Given the description of an element on the screen output the (x, y) to click on. 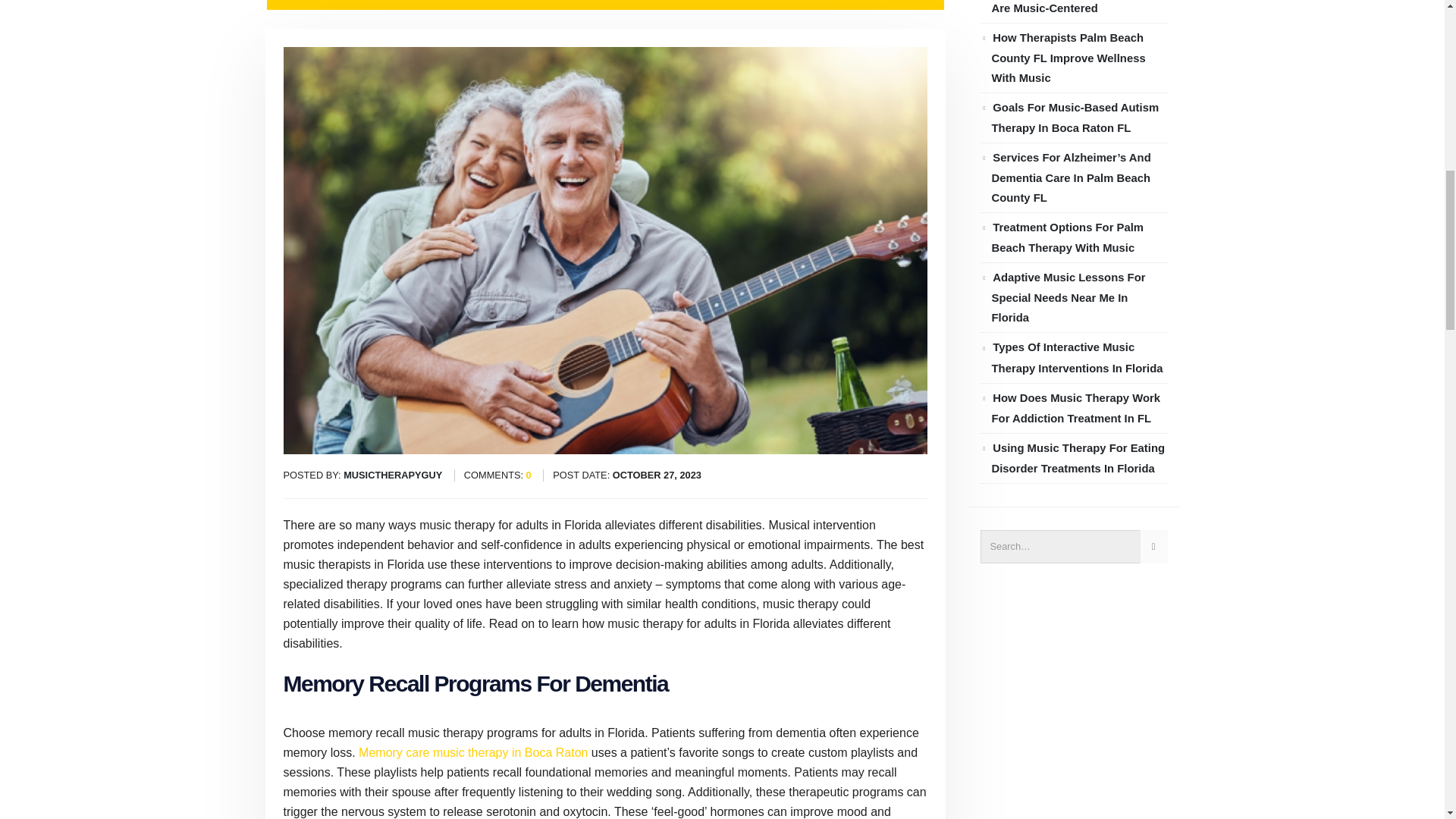
Memory care music therapy in Boca Raton (473, 752)
Goals For Music-Based Autism Therapy In Boca Raton FL (1074, 117)
